Given the description of an element on the screen output the (x, y) to click on. 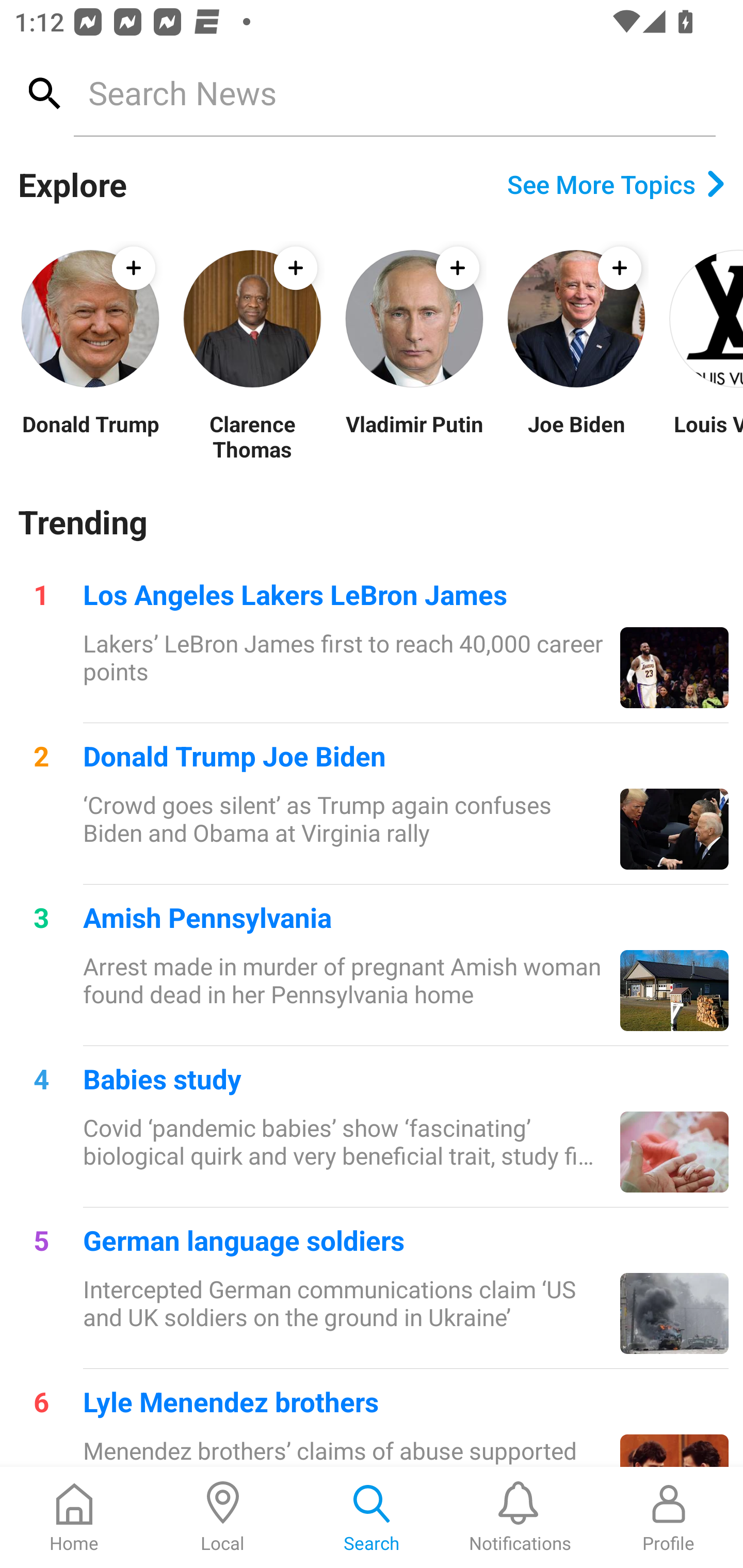
Search News (394, 92)
See More Topics (616, 183)
Donald Trump (89, 436)
Clarence Thomas (251, 436)
Vladimir Putin (413, 436)
Joe Biden (575, 436)
Home (74, 1517)
Local (222, 1517)
Notifications (519, 1517)
Profile (668, 1517)
